Given the description of an element on the screen output the (x, y) to click on. 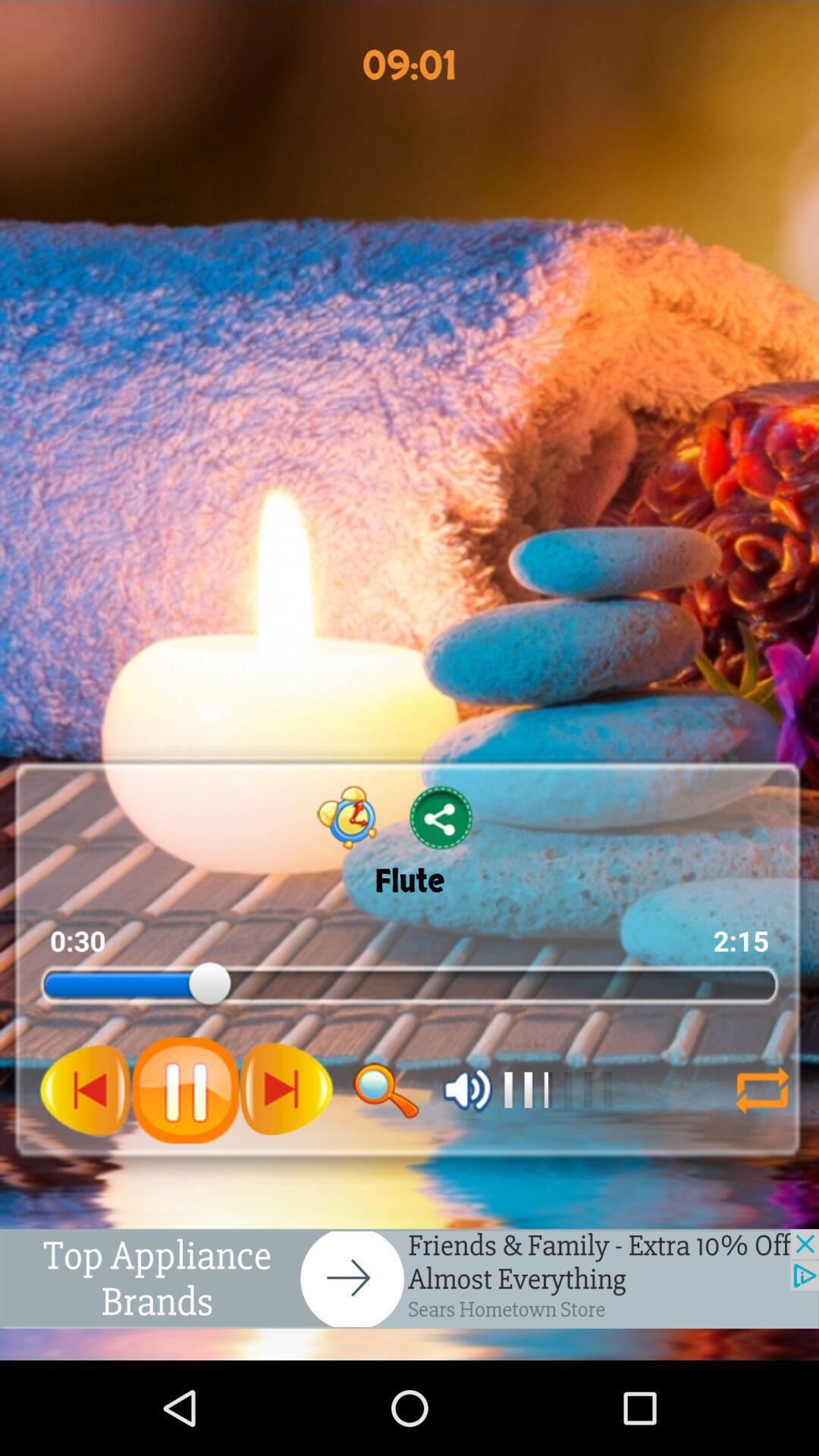
go to previous button (85, 1090)
